Given the description of an element on the screen output the (x, y) to click on. 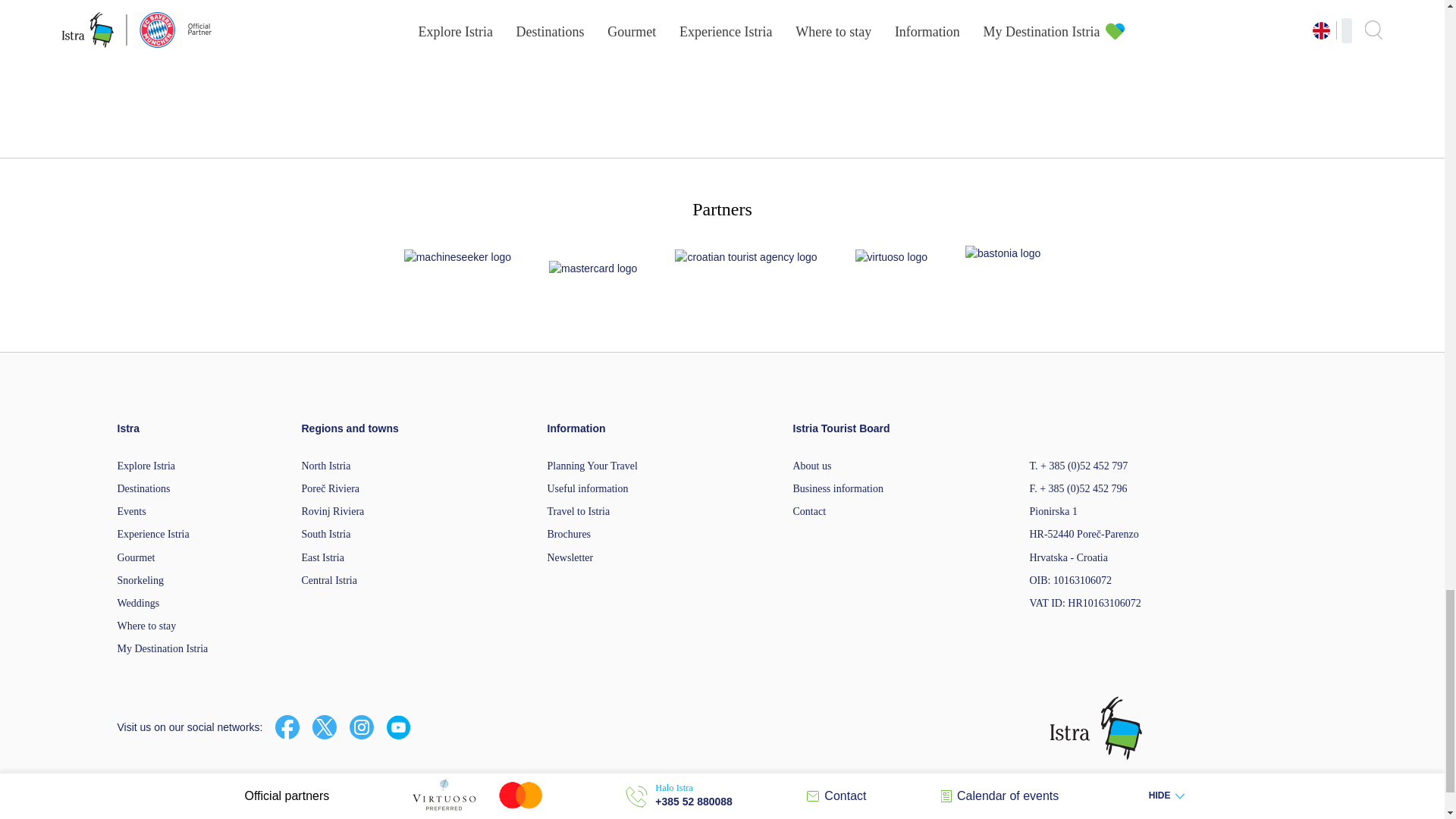
Gourmet (135, 557)
Experience Istria (152, 533)
South Istria (325, 533)
North Istria (325, 465)
Snorkeling (139, 580)
Events (130, 511)
Weddings (137, 603)
East Istria (322, 557)
Where to stay (146, 625)
Destinations (143, 488)
My Destination Istria (162, 648)
Rovinj Riviera (333, 511)
Explore Istria (145, 465)
